Given the description of an element on the screen output the (x, y) to click on. 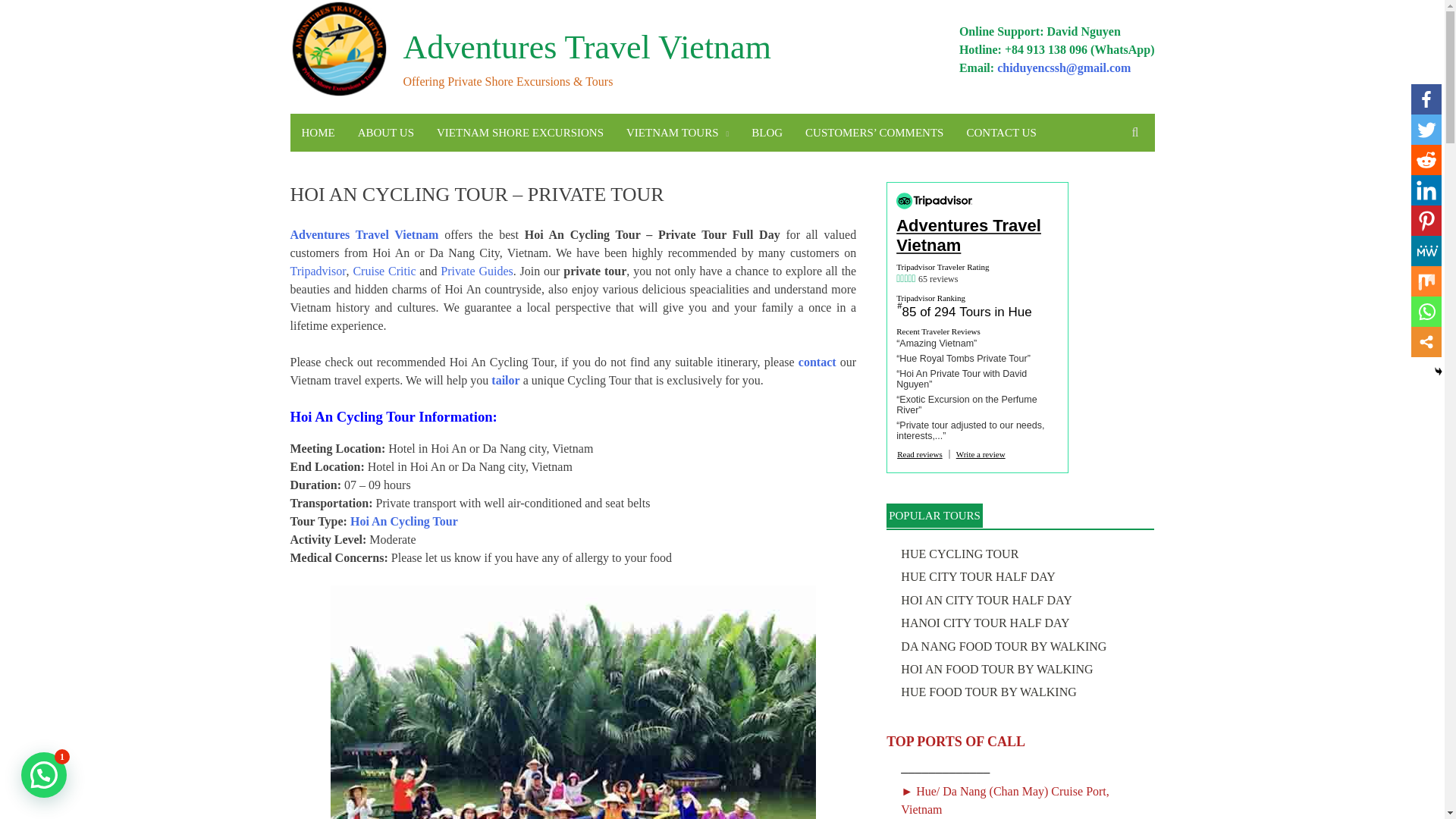
Facebook (1425, 99)
Hoi An Cycling Tour (404, 521)
Cruise Critic (383, 270)
Adventures Travel Vietnam (587, 47)
Private Guides (476, 270)
HOI AN CYCLING TOUR - PRIVATE TOUR (572, 702)
contact (816, 361)
Tripadvisor (317, 270)
ABOUT US (385, 132)
CONTACT US (1000, 132)
BLOG (766, 132)
VIETNAM TOURS (676, 132)
VIETNAM SHORE EXCURSIONS (519, 132)
Adventures Travel Vietnam (363, 234)
HOME (317, 132)
